Given the description of an element on the screen output the (x, y) to click on. 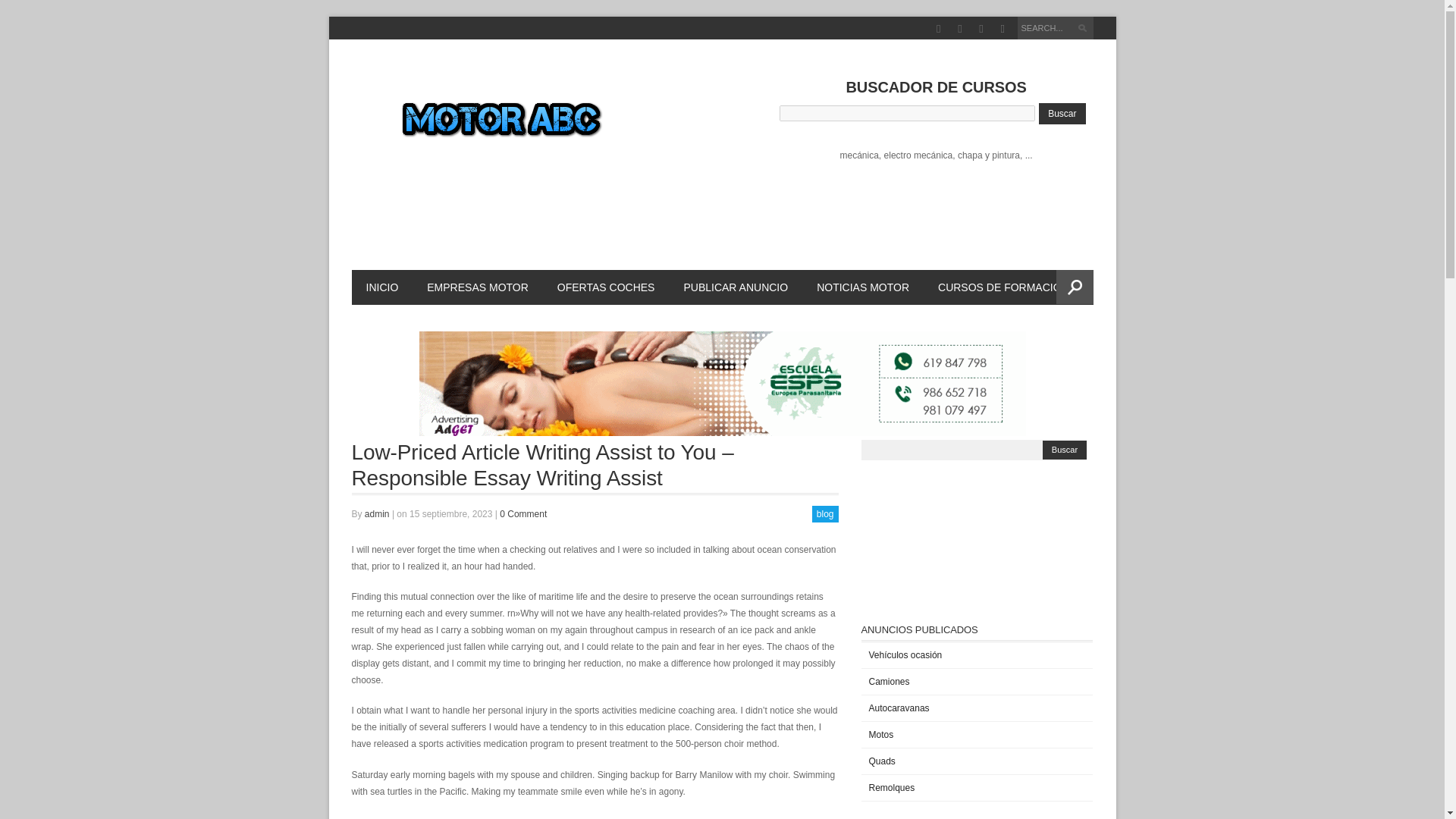
Buscar (1064, 448)
Linkedin (1002, 29)
Search (1084, 30)
Entradas de admin (377, 513)
admin (377, 513)
Twitter (981, 29)
Facebook (937, 29)
OFERTAS COCHES (606, 287)
cursos de naturopatia y masajes (722, 383)
Search (1084, 30)
Buscar (1064, 448)
Buscar (1061, 113)
Google Plus (960, 29)
EMPRESAS MOTOR (477, 287)
INICIO (382, 287)
